Given the description of an element on the screen output the (x, y) to click on. 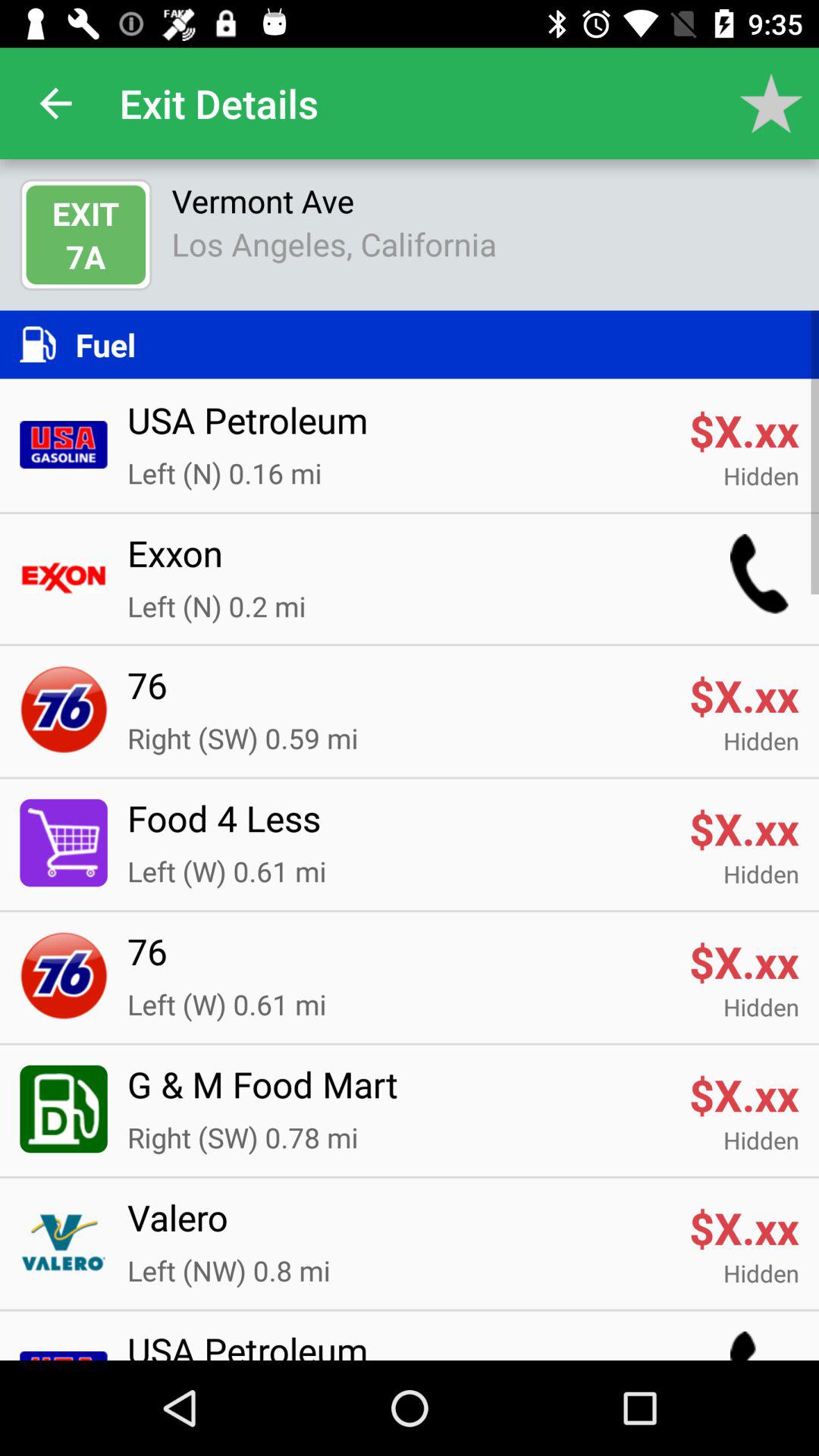
choose the item above exit (55, 103)
